Given the description of an element on the screen output the (x, y) to click on. 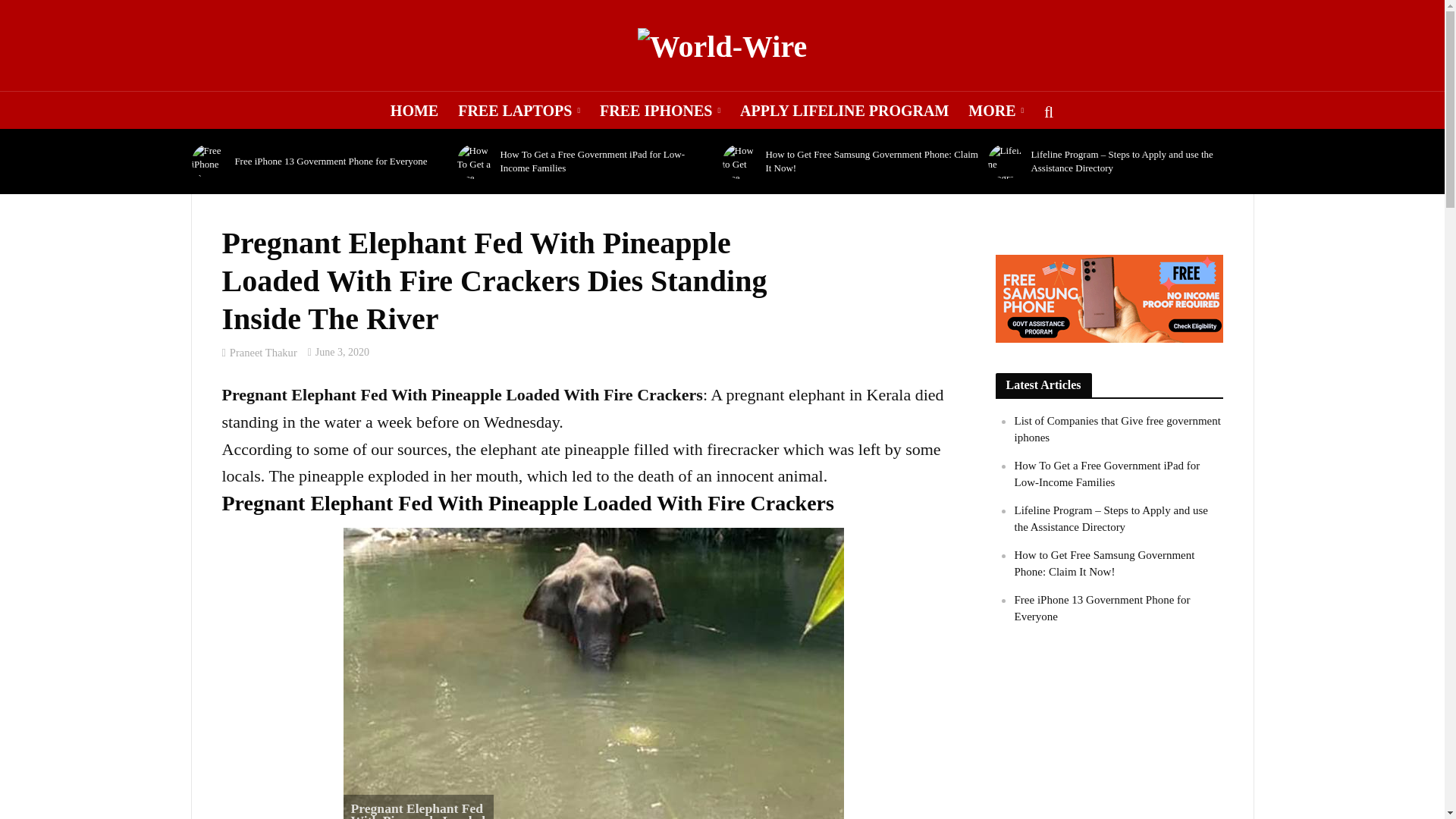
APPLY LIFELINE PROGRAM (844, 110)
MORE (995, 110)
Free iPhone 13 Government Phone for Everyone (208, 161)
FREE LAPTOPS (518, 110)
FREE IPHONES (659, 110)
How To Get a Free Government iPad for Low-Income Families (474, 161)
HOME (414, 110)
How to Get Free Samsung Government Phone: Claim It Now! (739, 161)
